Given the description of an element on the screen output the (x, y) to click on. 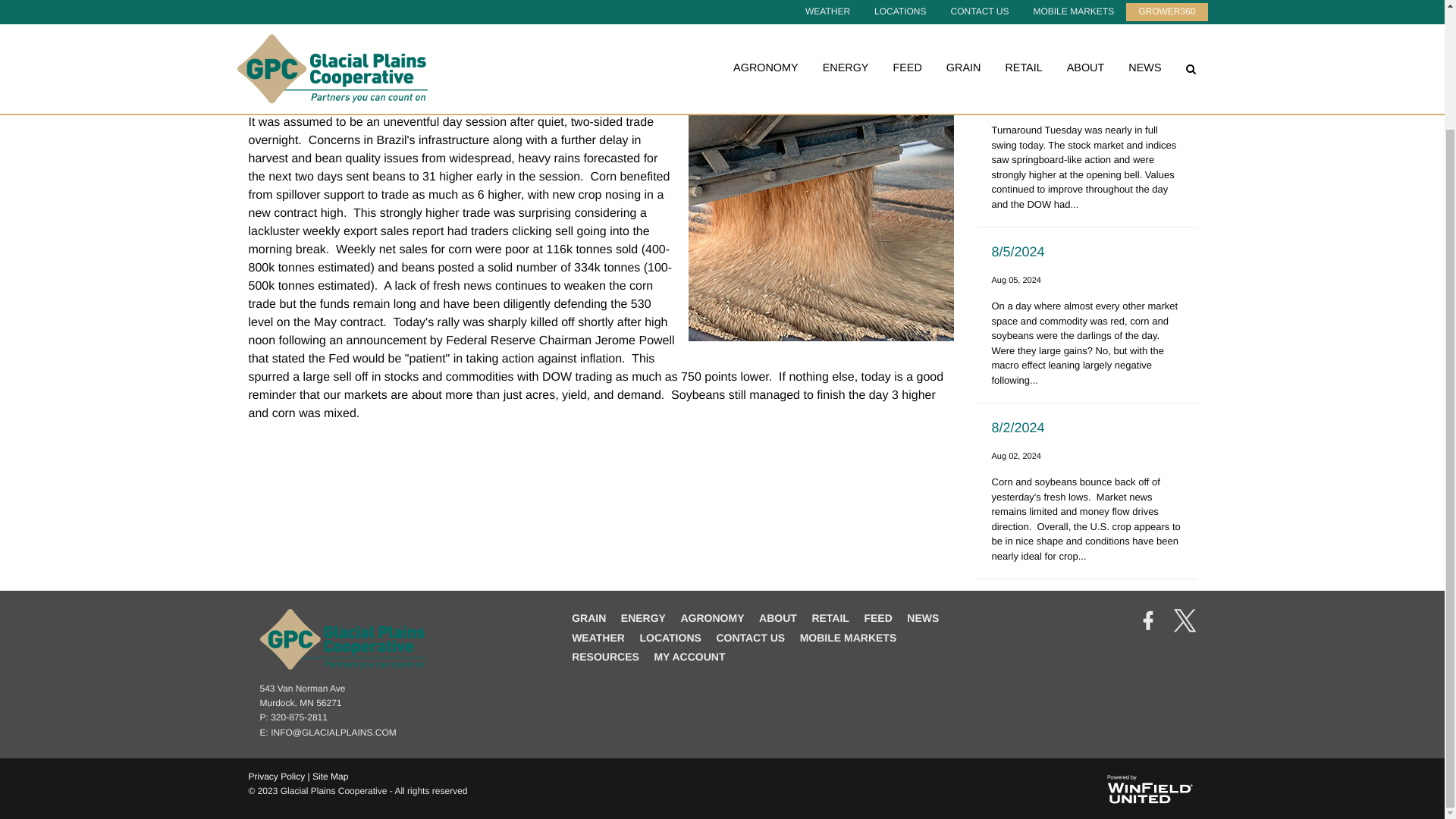
contact-us (750, 637)
locations (669, 637)
my-account (689, 656)
about (777, 617)
energy (643, 617)
grain (588, 617)
mail (327, 732)
privacy (276, 776)
retail (829, 617)
phone (292, 716)
